Given the description of an element on the screen output the (x, y) to click on. 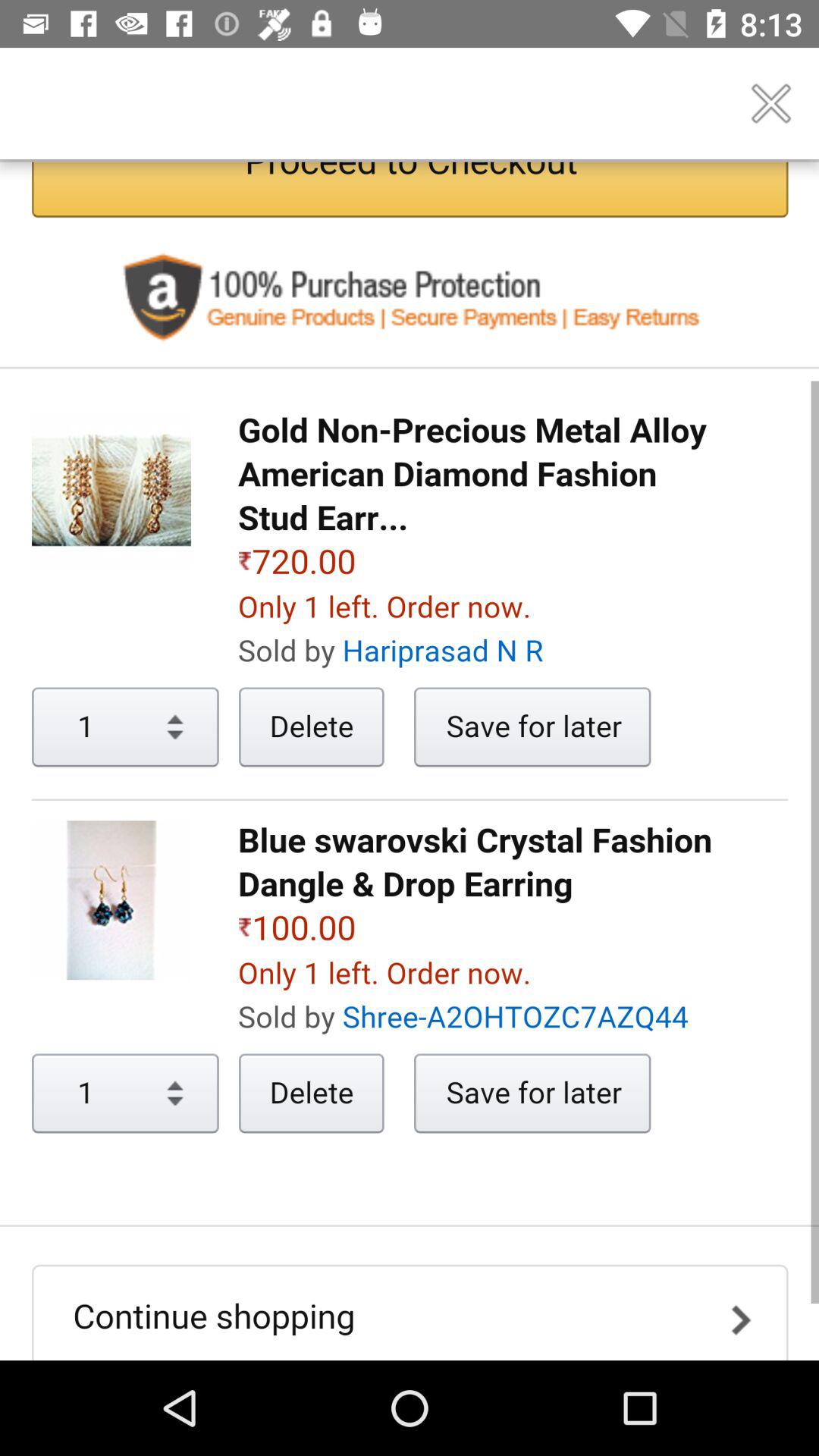
description (409, 761)
